Given the description of an element on the screen output the (x, y) to click on. 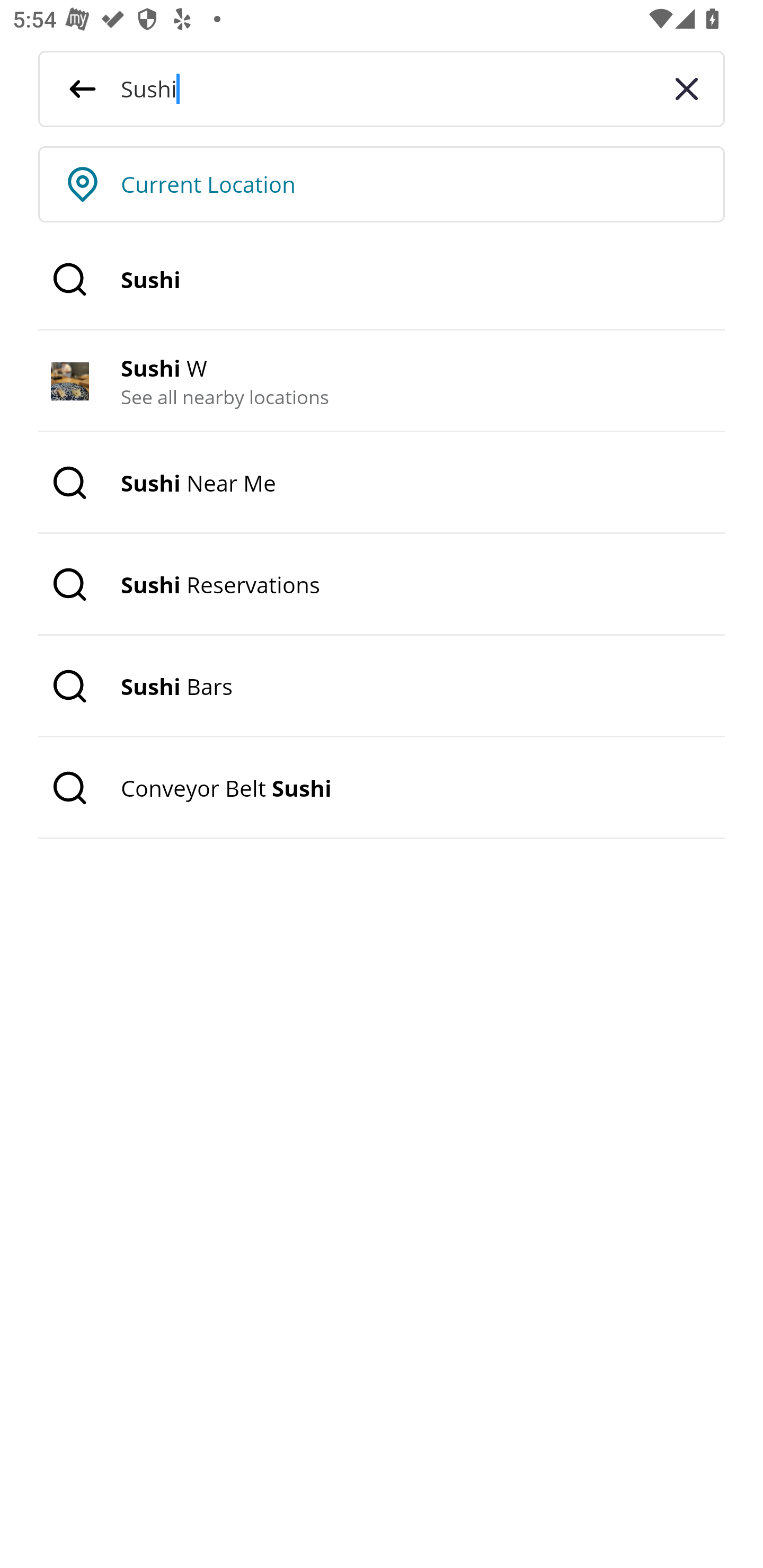
Sushi (381, 279)
